Given the description of an element on the screen output the (x, y) to click on. 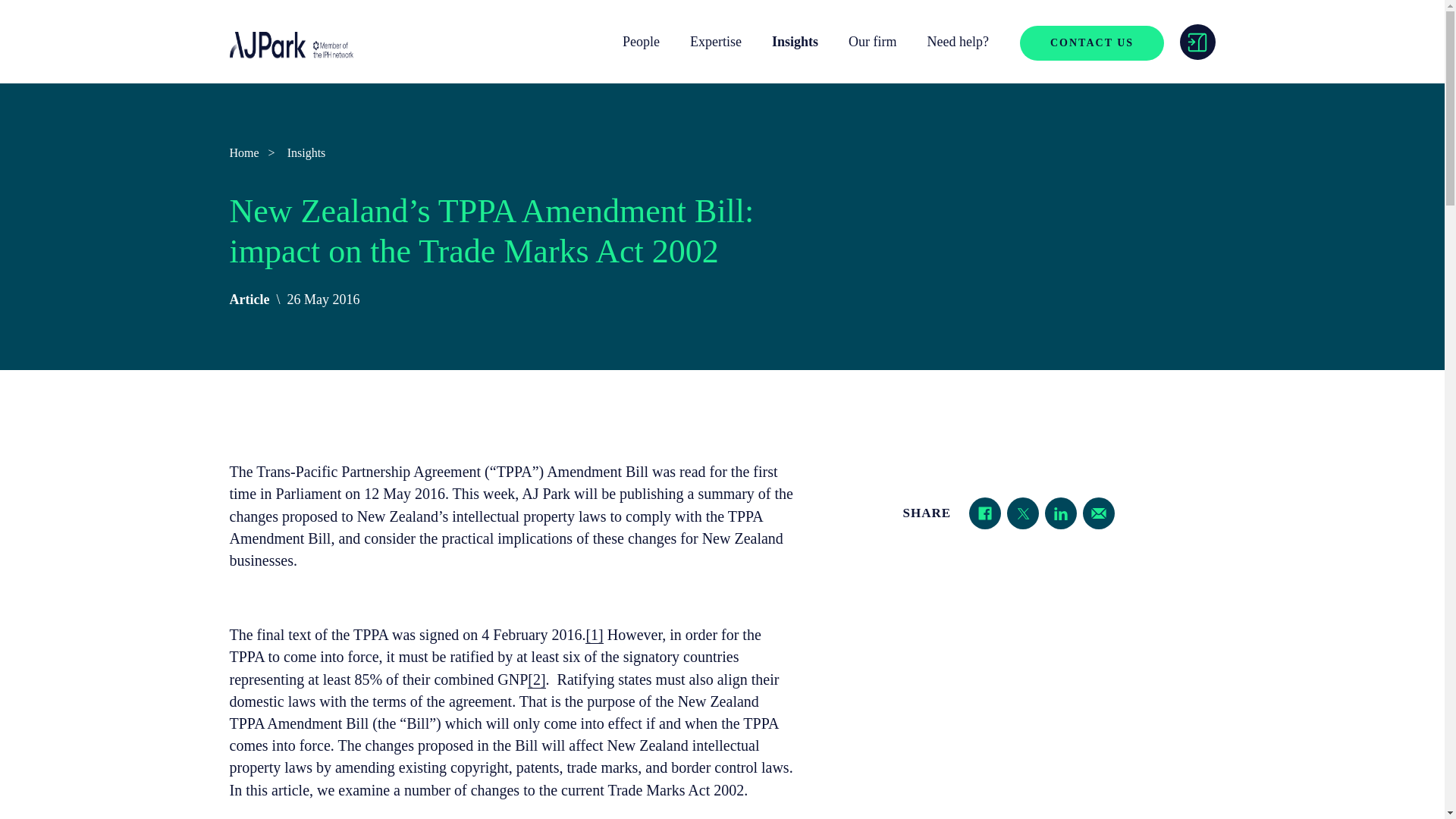
Our firm (871, 41)
Expertise (716, 41)
Insights (794, 41)
